Given the description of an element on the screen output the (x, y) to click on. 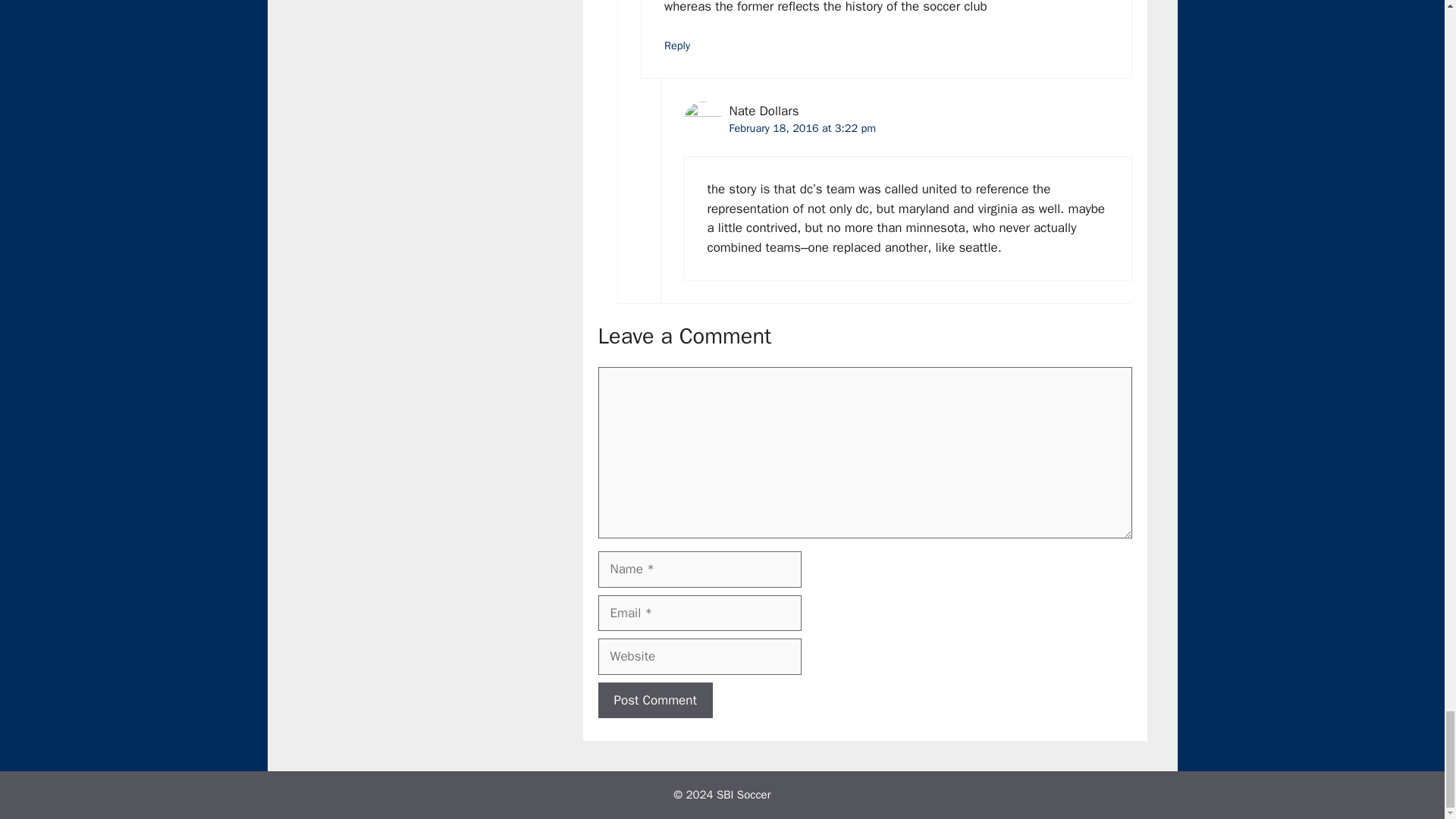
Post Comment (653, 700)
